Given the description of an element on the screen output the (x, y) to click on. 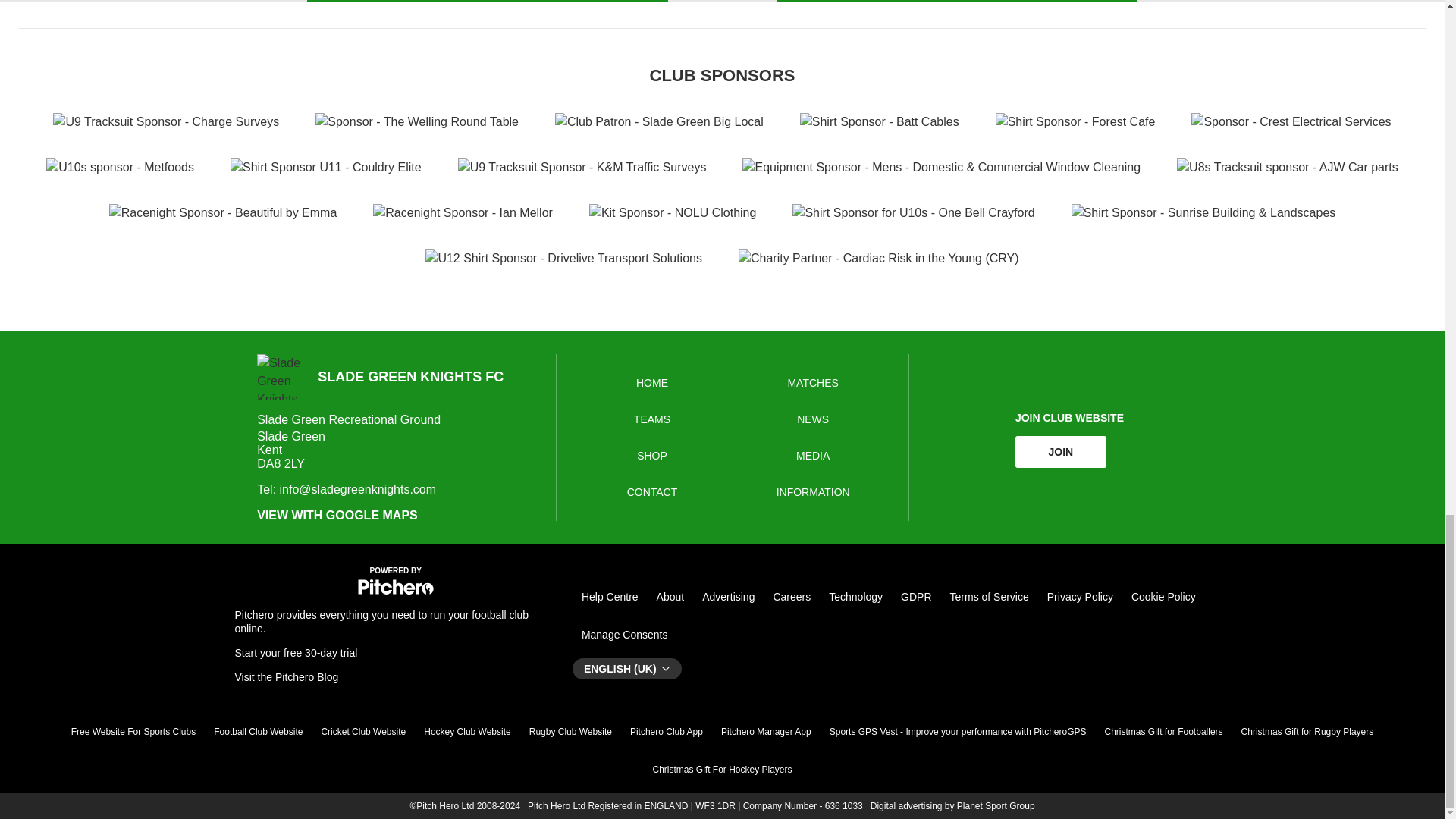
Shirt Sponsor - Forest Cafe (1075, 122)
Shirt Sponsor - Batt Cables (879, 122)
Sponsor - Crest Electrical Services (1290, 122)
U9 Tracksuit Sponsor - Charge Surveys (165, 122)
Shirt Sponsor for U10s - One Bell Crayford (912, 212)
Sponsor - The Welling Round Table (416, 122)
U12 Shirt Sponsor - Drivelive Transport Solutions (563, 258)
Kit Sponsor - NOLU Clothing (673, 212)
U10s sponsor - Metfoods (119, 167)
Pitchero (395, 590)
U8s Tracksuit sponsor - AJW Car parts (1286, 167)
Club Patron - Slade Green Big Local (658, 122)
Racenight Sponsor - Ian Mellor (462, 212)
Shirt Sponsor U11 - Couldry Elite (326, 167)
